Given the description of an element on the screen output the (x, y) to click on. 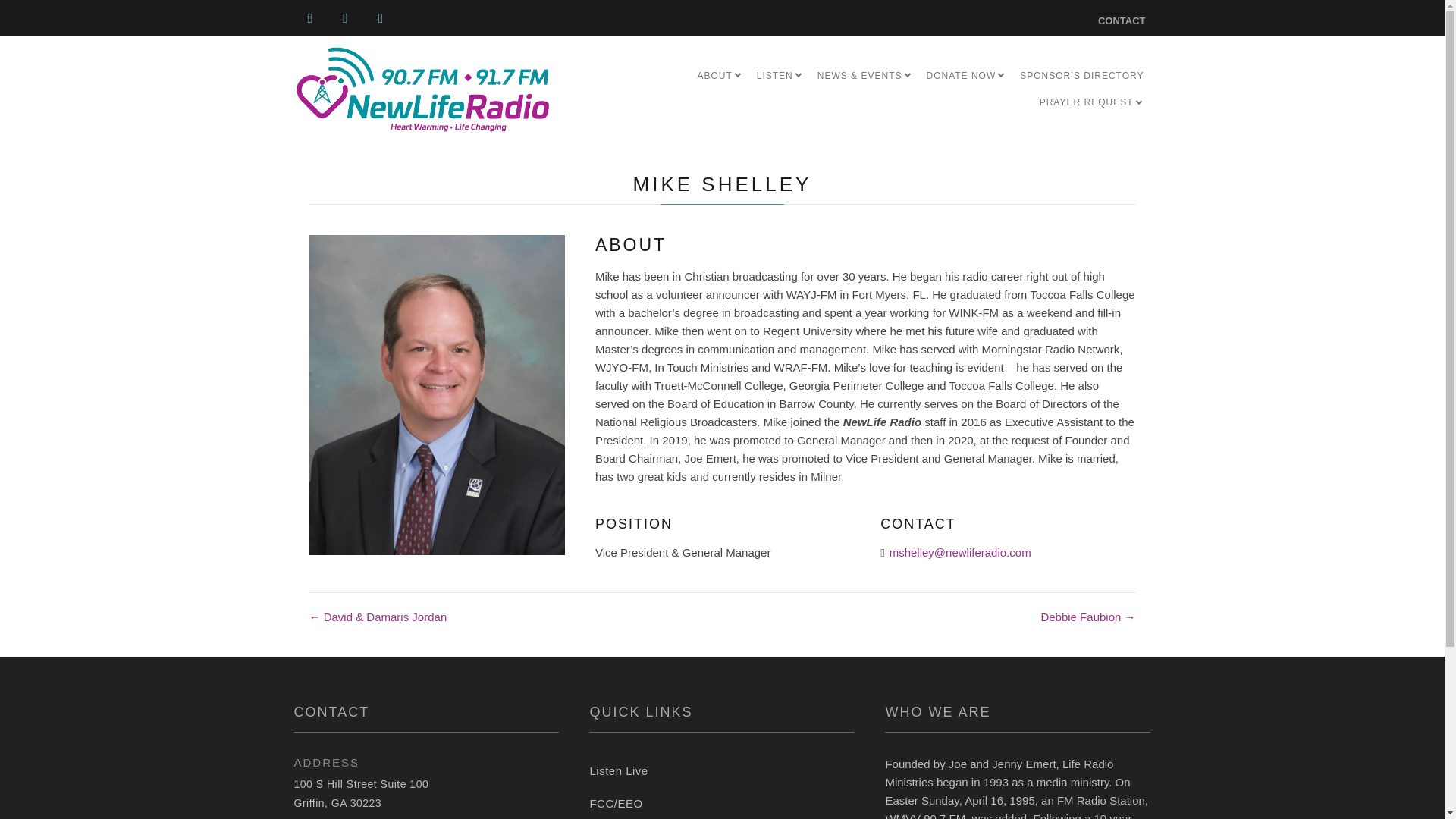
LISTEN (780, 76)
logo (422, 89)
YouTube (345, 18)
DONATE NOW (965, 76)
CONTACT (1122, 19)
Listen Live (721, 771)
ABOUT (719, 76)
PRAYER REQUEST (1091, 102)
Facebook (310, 18)
